Given the description of an element on the screen output the (x, y) to click on. 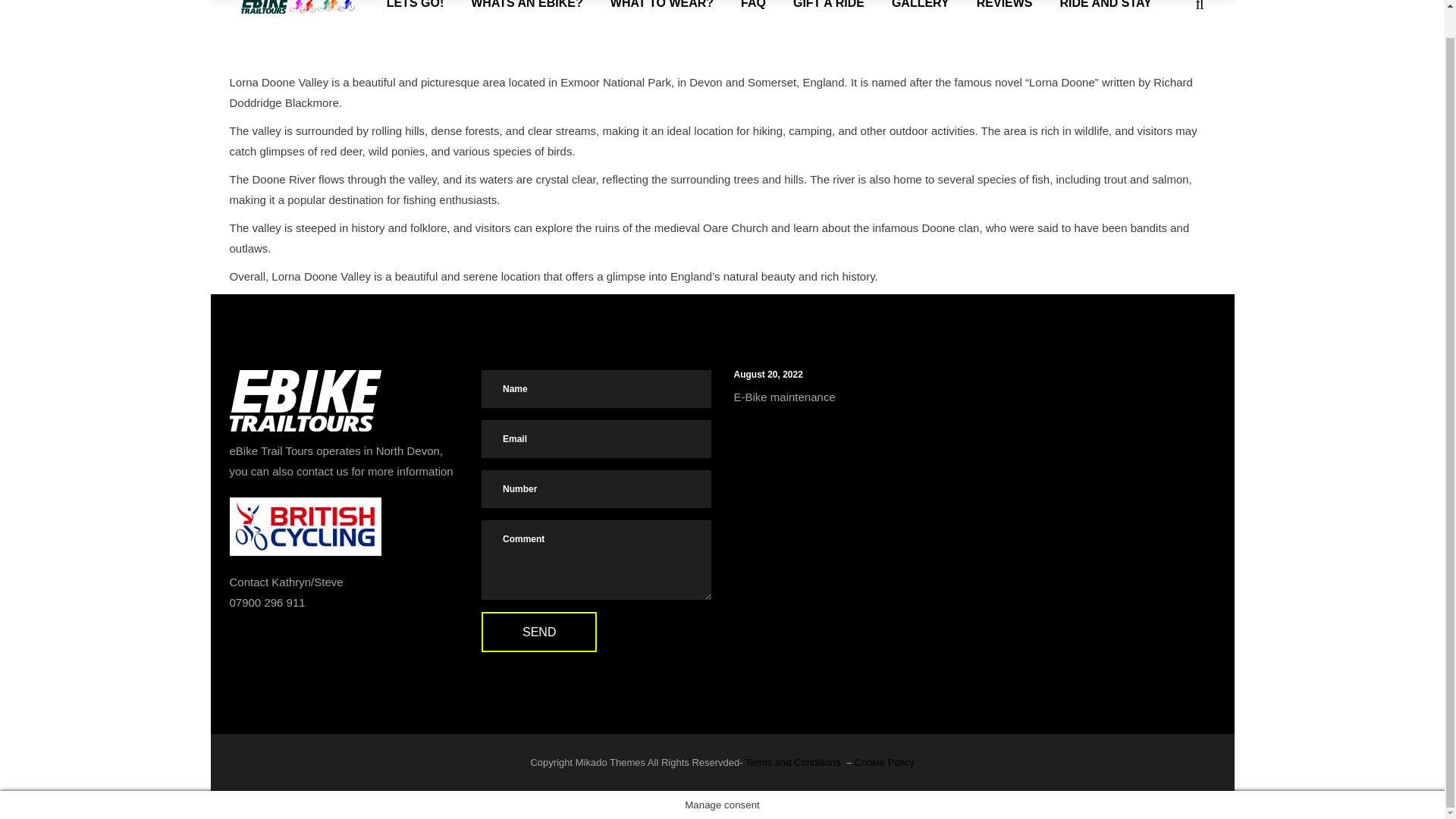
GIFT A RIDE (827, 17)
E-Bike maintenance (784, 396)
GALLERY (919, 17)
Send (538, 631)
REVIEWS (1004, 17)
WHATS AN EBIKE? (526, 17)
RIDE AND STAY (1106, 17)
WHAT TO WEAR? (661, 17)
LETS GO! (415, 17)
FAQ (752, 17)
